Given the description of an element on the screen output the (x, y) to click on. 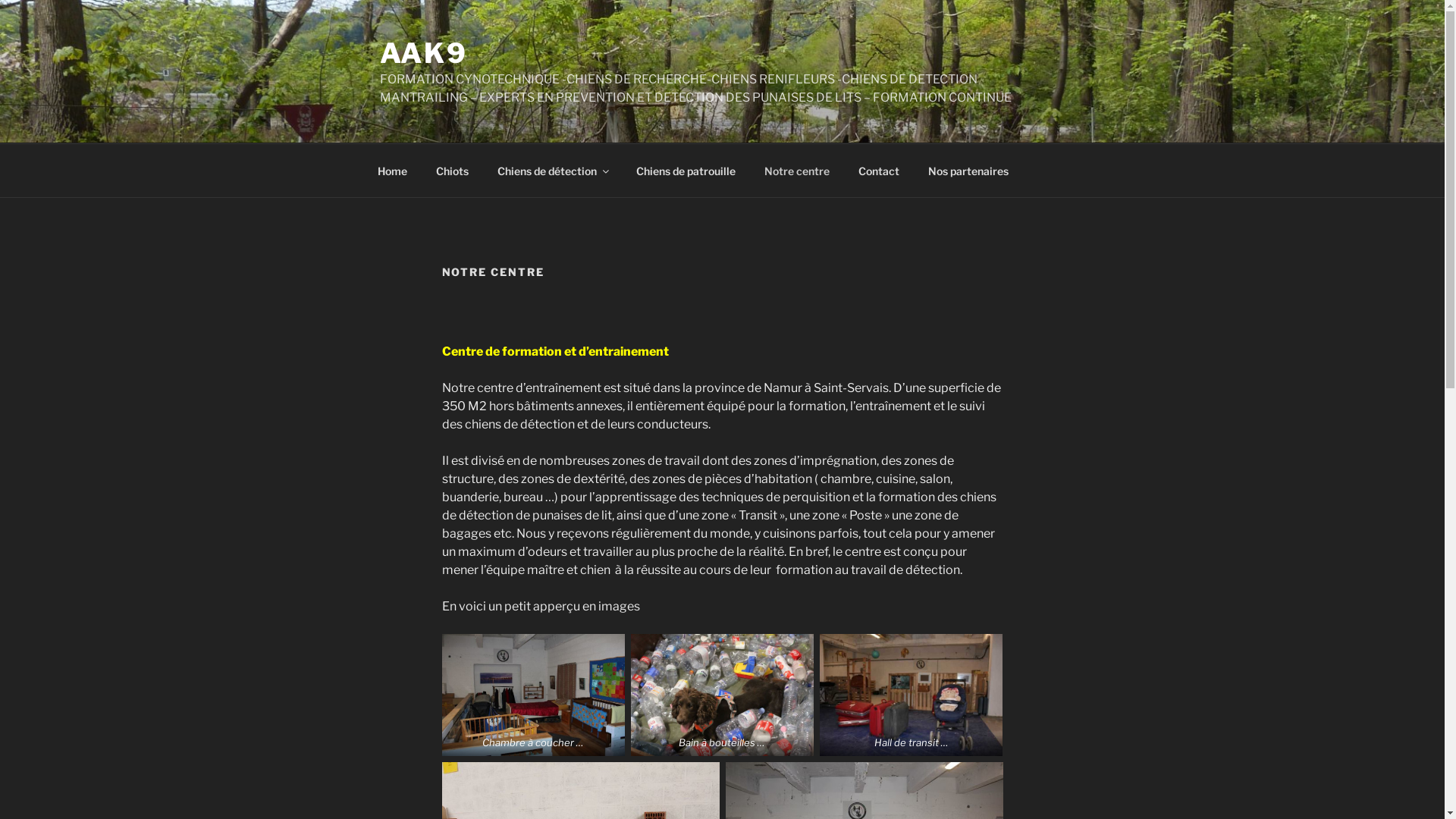
AAK9 Element type: text (423, 52)
Contact Element type: text (878, 169)
Home Element type: text (392, 169)
Notre centre Element type: text (796, 169)
Chiens de patrouille Element type: text (686, 169)
Chiots Element type: text (452, 169)
Nos partenaires Element type: text (967, 169)
